Given the description of an element on the screen output the (x, y) to click on. 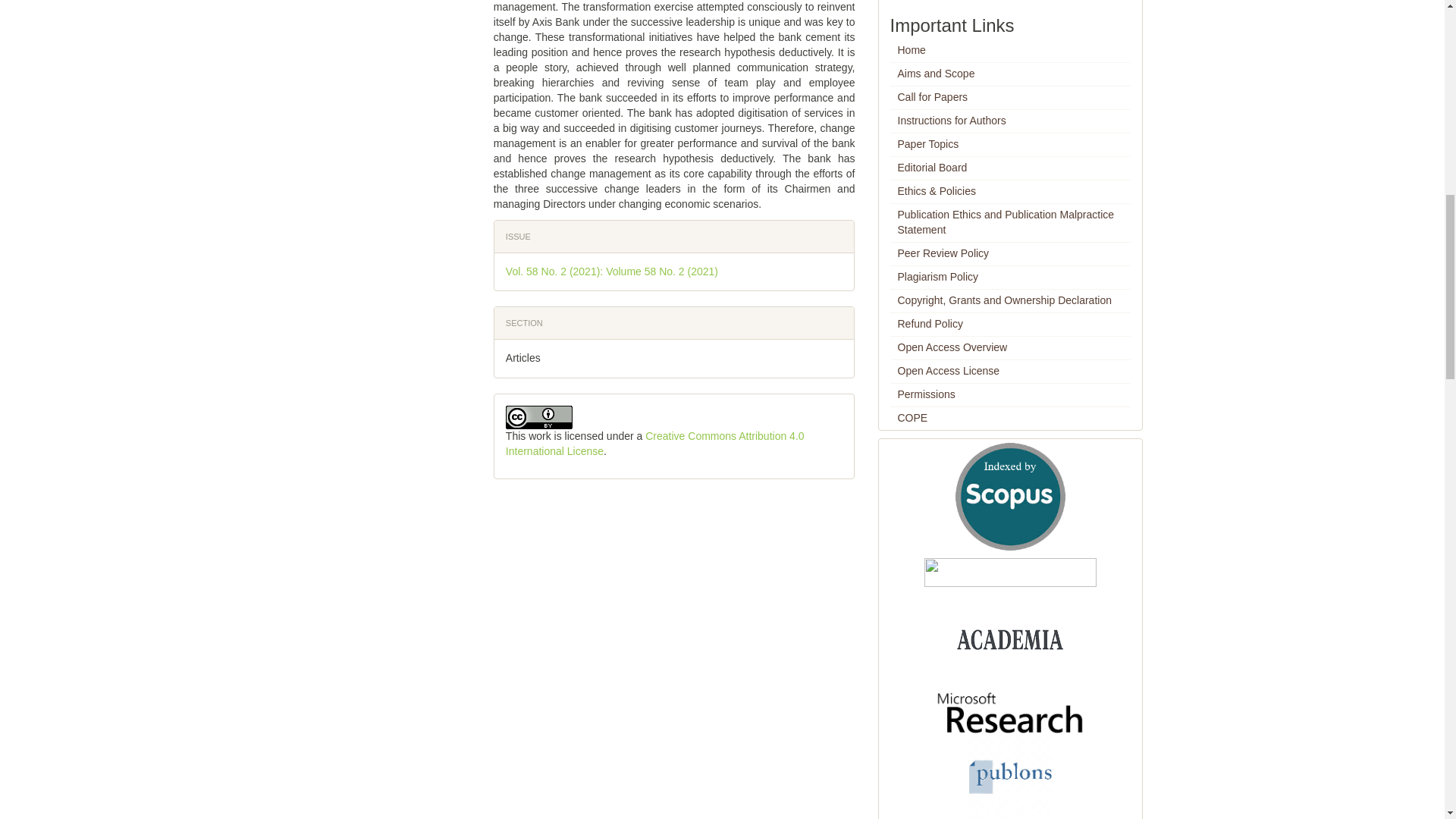
Indexed by Scopus (1010, 496)
Creative Commons Attribution 4.0 International License (655, 443)
